Given the description of an element on the screen output the (x, y) to click on. 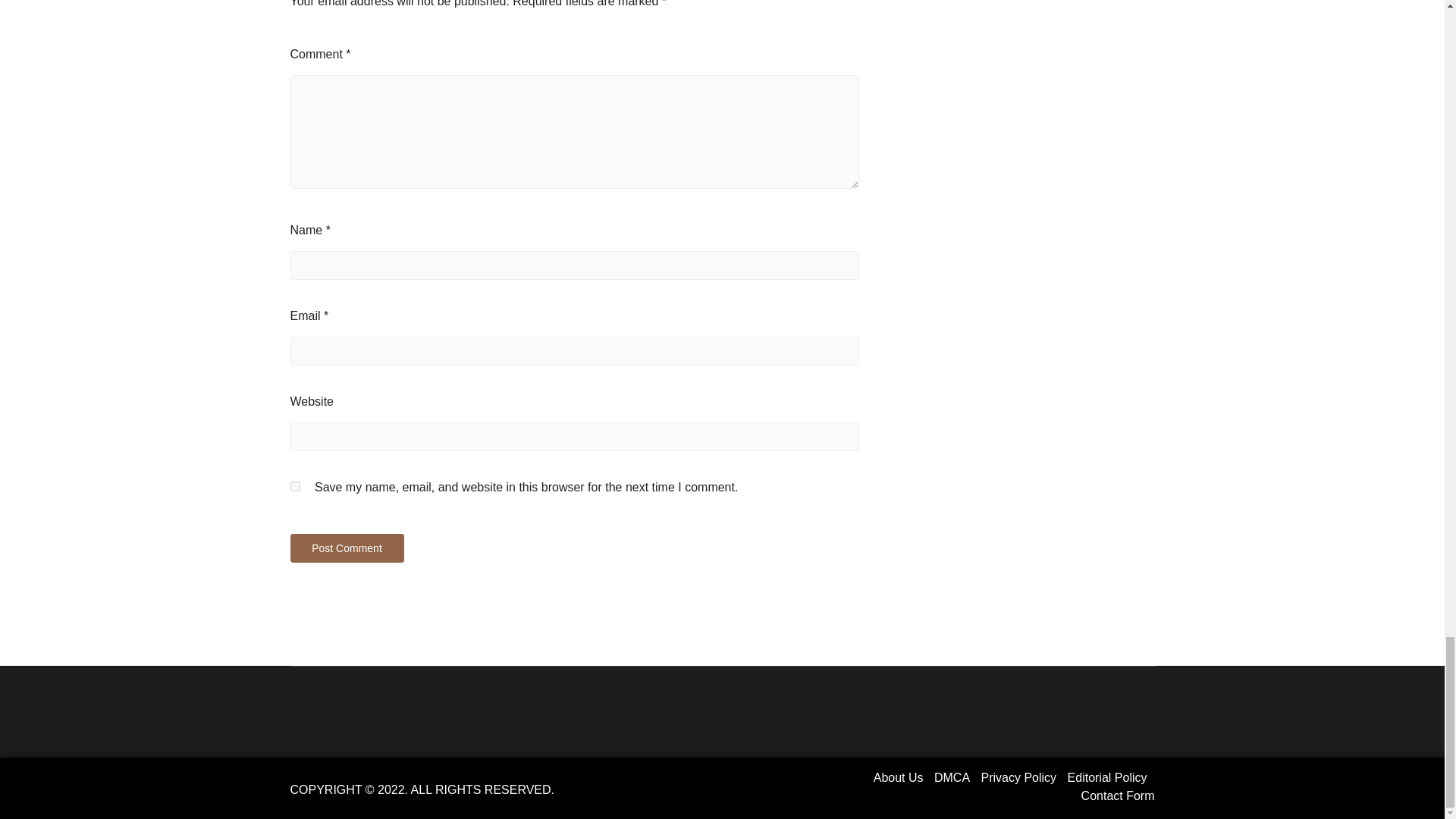
Post Comment (346, 547)
yes (294, 486)
Post Comment (346, 547)
